Given the description of an element on the screen output the (x, y) to click on. 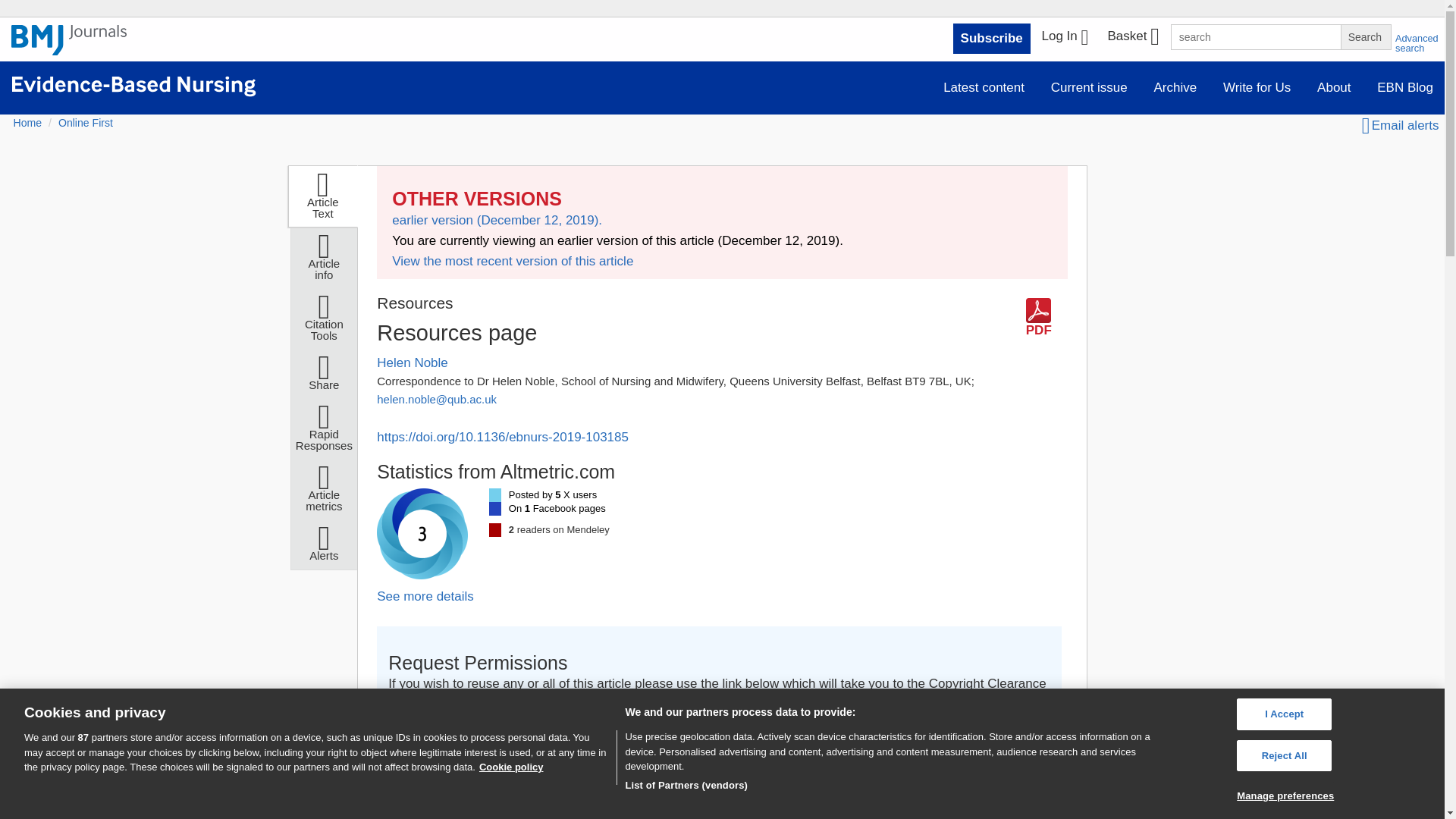
Advanced search (1416, 43)
Search (1364, 36)
Log In (1064, 38)
Latest content (983, 87)
Basket (1132, 38)
Archive (1175, 87)
BMJ Journals (68, 40)
earlier version posted on December 12, 2019 (496, 220)
View the most current version of this article. (512, 261)
Search (1364, 36)
About (1333, 87)
Write for Us (1256, 87)
BMJ Journals (68, 47)
Subscribe (991, 38)
